Given the description of an element on the screen output the (x, y) to click on. 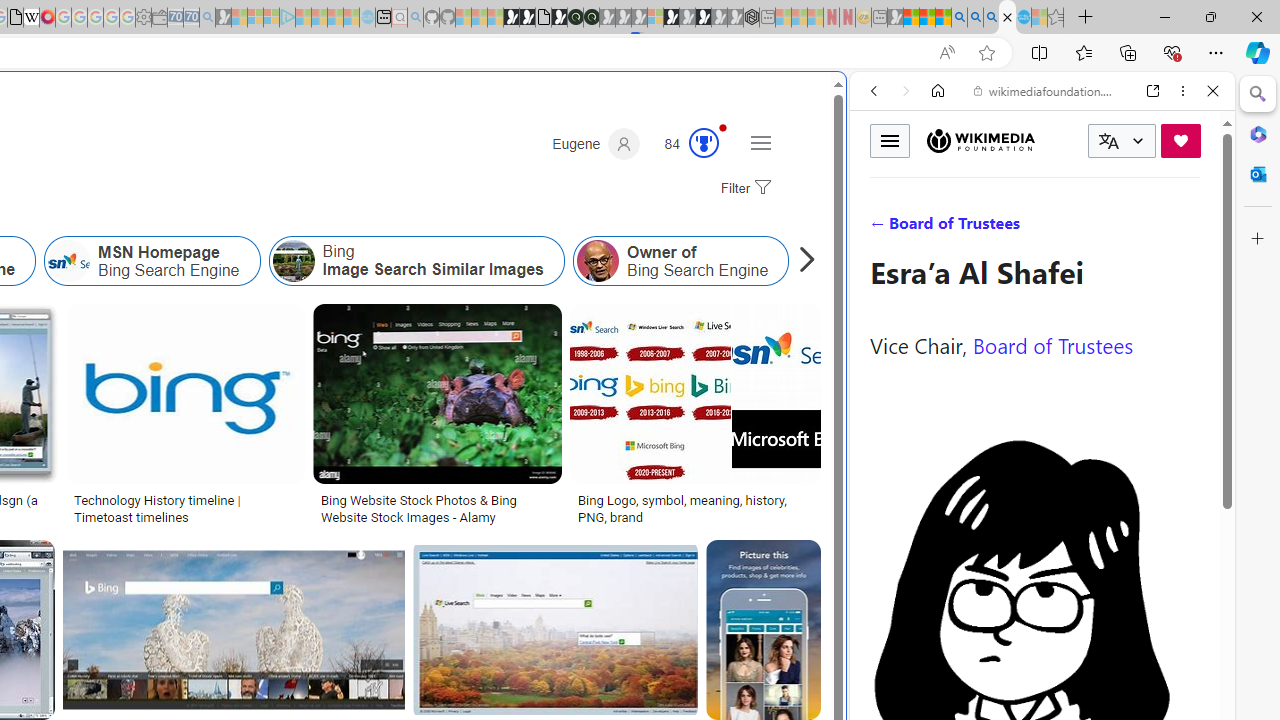
Class: i icon icon-translate language-switcher__icon (1108, 141)
Play Zoo Boom in your browser | Games from Microsoft Start (527, 17)
Board of Trustees (1053, 344)
MSN Homepage Bing Search Engine (69, 260)
Https Bing Search Q MSN (822, 260)
Home | Sky Blue Bikes - Sky Blue Bikes - Sleeping (367, 17)
